Given the description of an element on the screen output the (x, y) to click on. 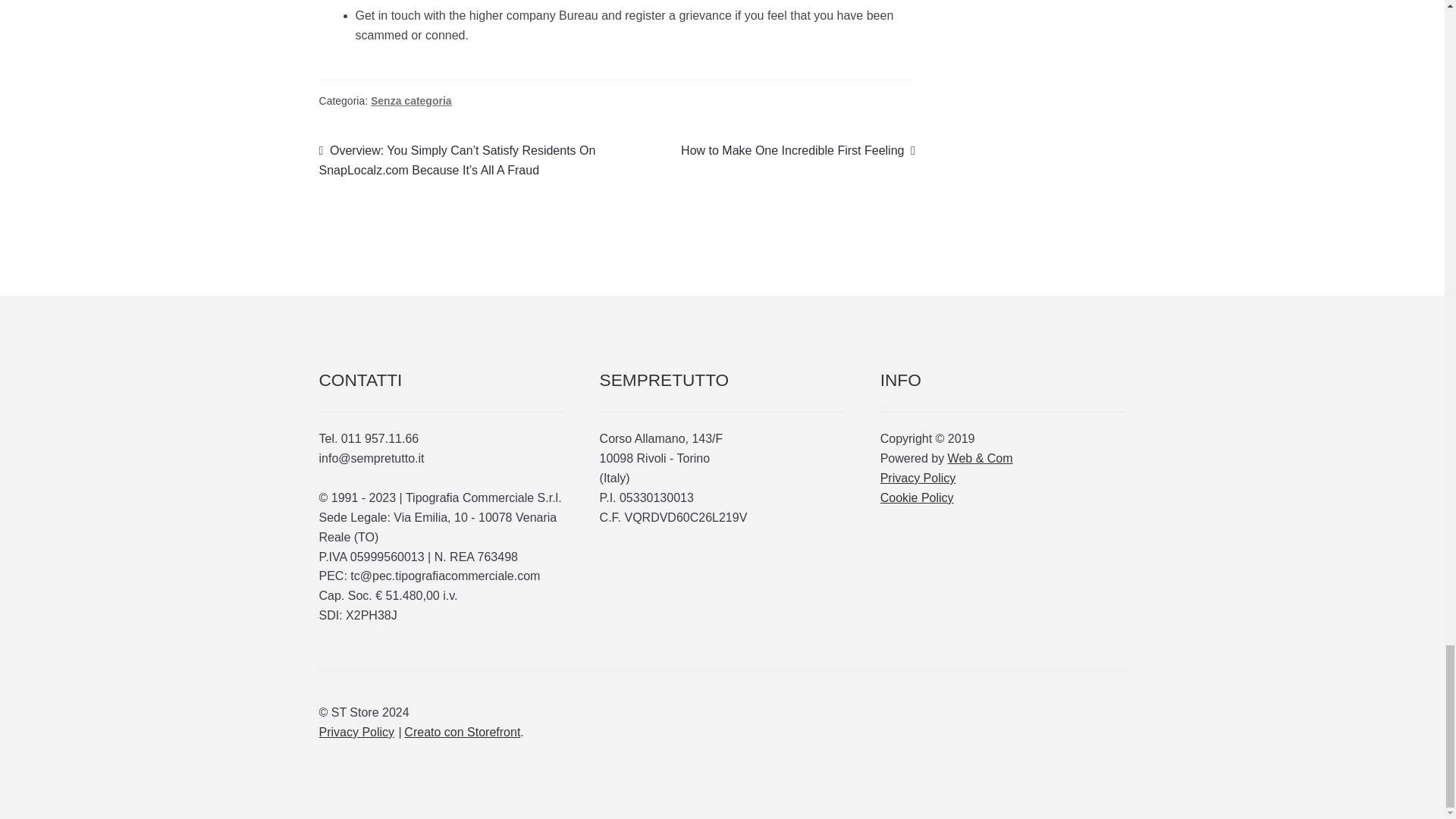
Senza categoria (411, 101)
Privacy Policy (356, 731)
Cookie Policy (916, 497)
Creato con Storefront (461, 731)
Privacy Policy (918, 477)
